Given the description of an element on the screen output the (x, y) to click on. 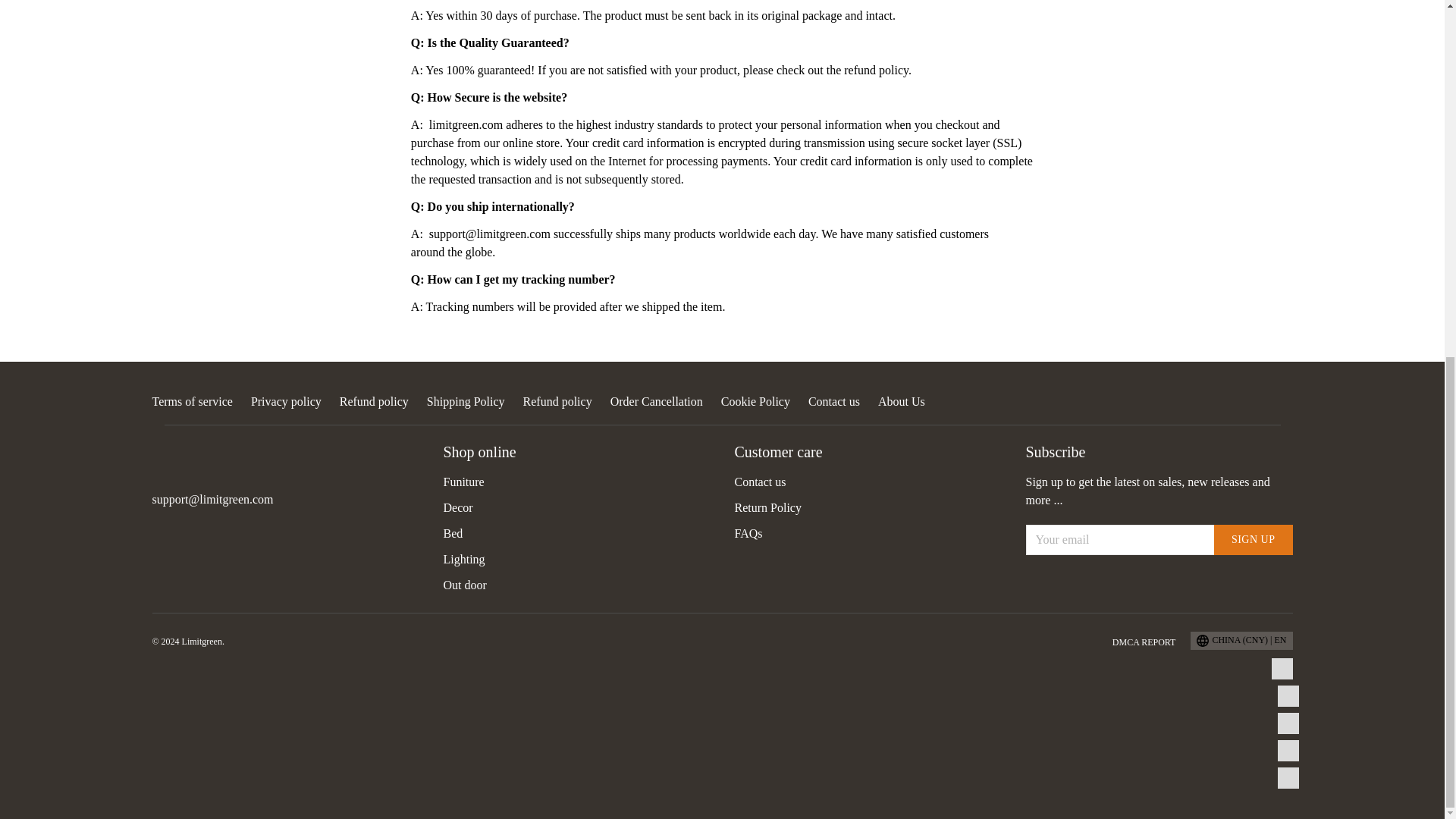
Refund policy (374, 400)
Lighting (463, 558)
Shipping Policy (465, 400)
Order Cancellation (656, 400)
FAQs (747, 533)
Out door (464, 584)
Funiture (462, 481)
Decor (456, 507)
Contact us (834, 400)
Return Policy (766, 507)
